Given the description of an element on the screen output the (x, y) to click on. 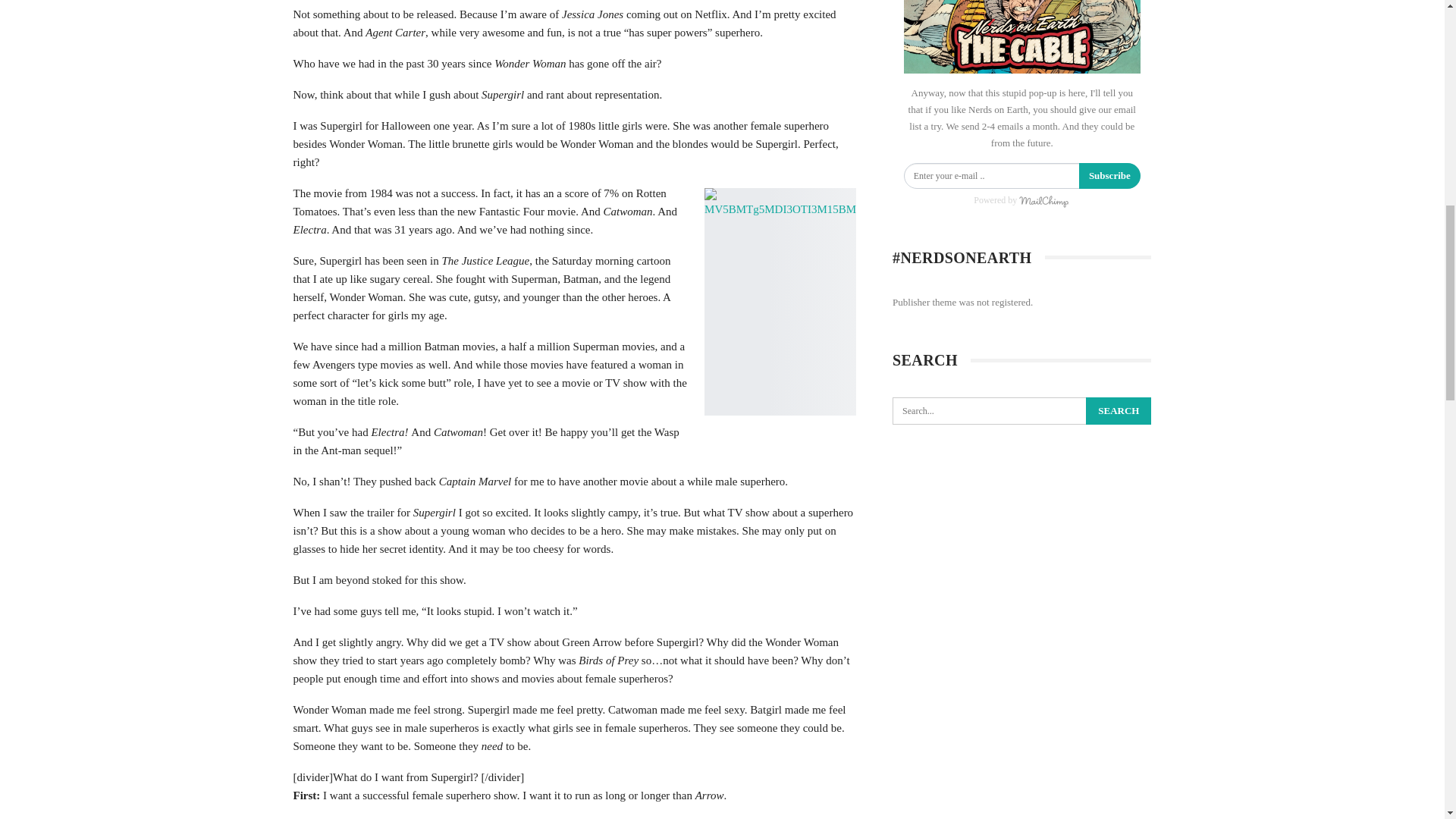
Search (1118, 411)
Search for: (1021, 411)
Search (1118, 411)
